Given the description of an element on the screen output the (x, y) to click on. 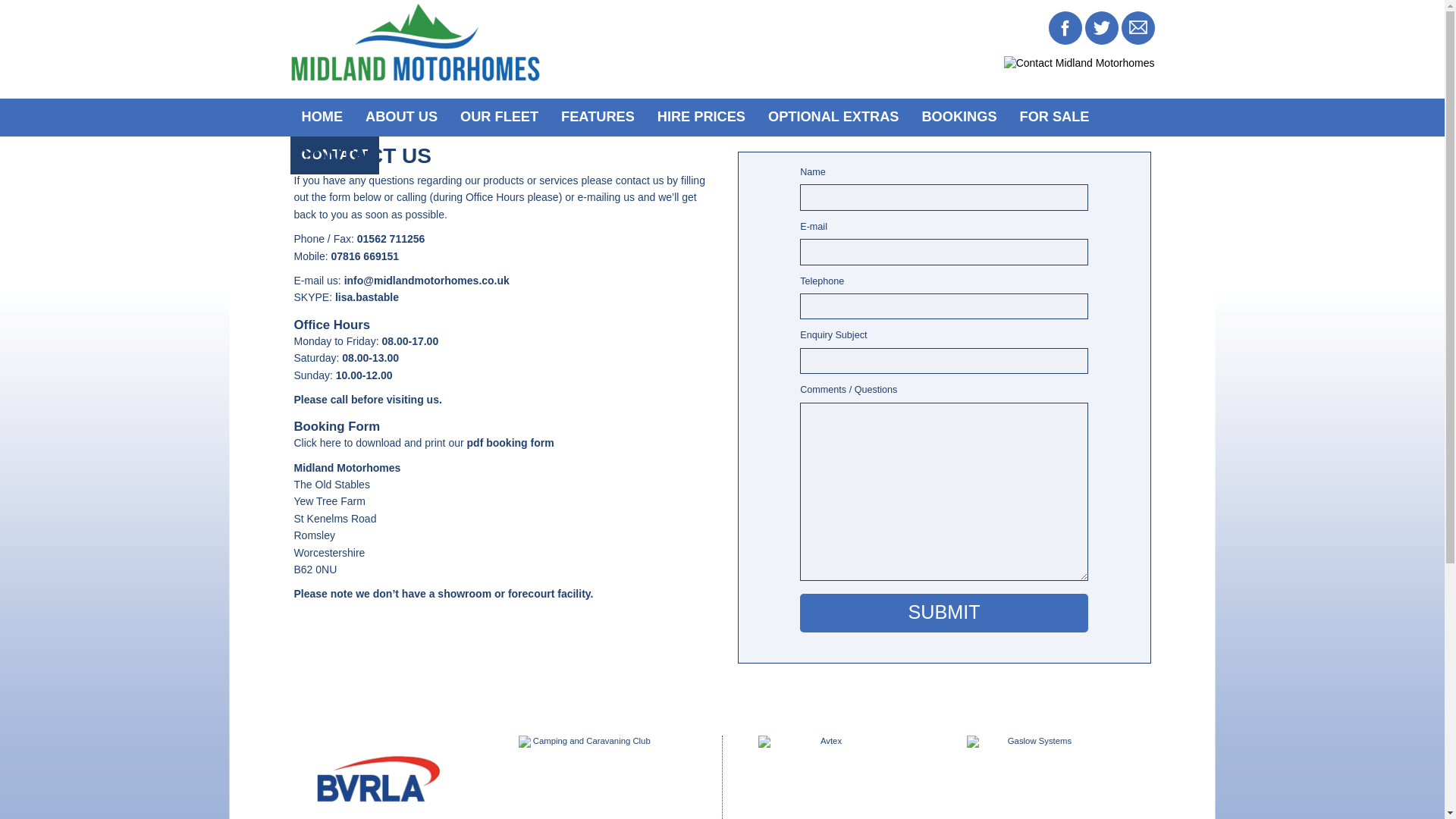
FEATURES (598, 117)
ABOUT US (400, 117)
BOOKINGS (958, 117)
OPTIONAL EXTRAS (833, 117)
Submit (943, 612)
pdf booking form (510, 442)
CONTACT (333, 155)
Submit (943, 612)
FOR SALE (1054, 117)
OUR FLEET (499, 117)
HIRE PRICES (701, 117)
HOME (321, 117)
